Given the description of an element on the screen output the (x, y) to click on. 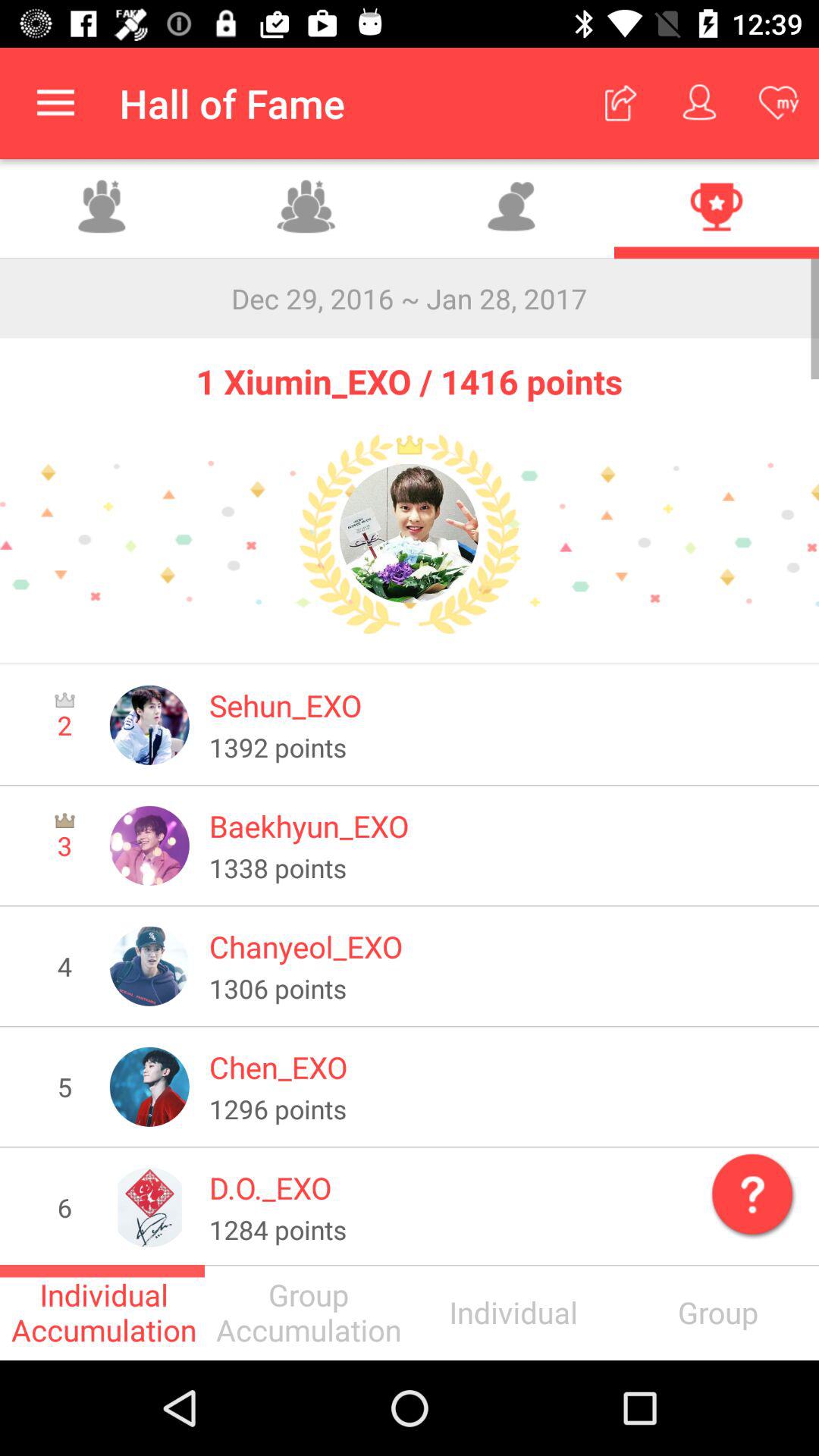
tap the 1392 points (504, 746)
